Given the description of an element on the screen output the (x, y) to click on. 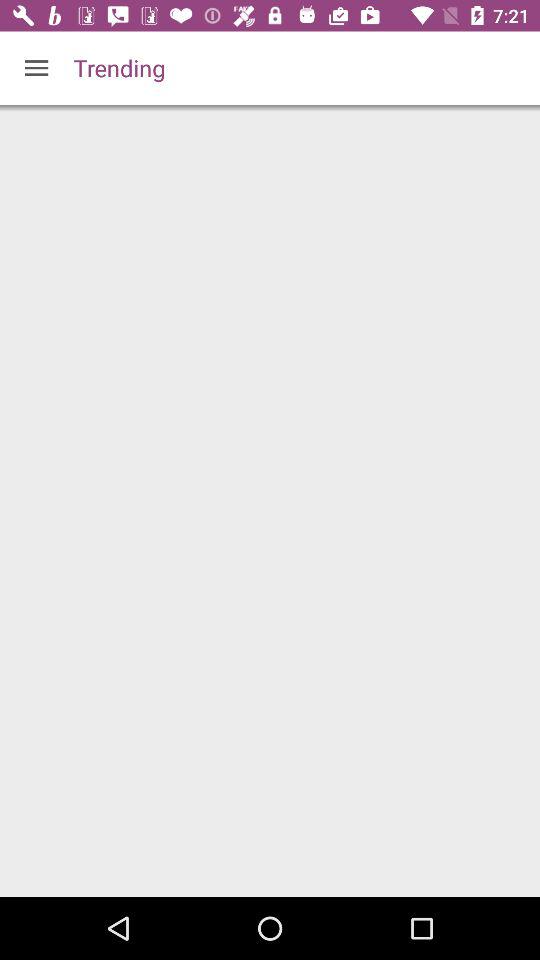
tap the item next to the trending icon (36, 68)
